Given the description of an element on the screen output the (x, y) to click on. 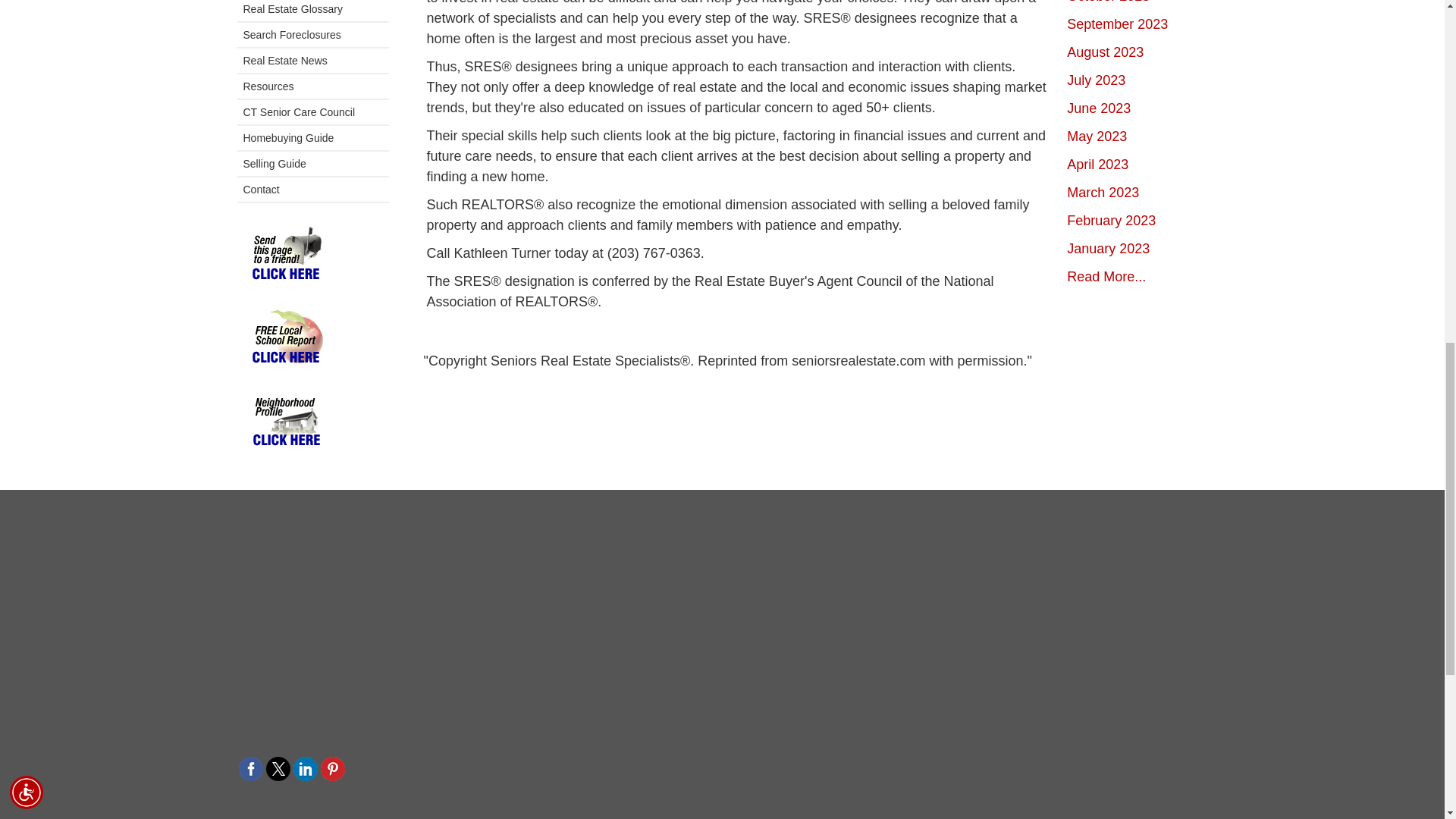
Search Foreclosures (311, 35)
Real Estate News (311, 61)
CT Senior Care Council (311, 112)
Resources (311, 86)
Real Estate Glossary (311, 11)
